Given the description of an element on the screen output the (x, y) to click on. 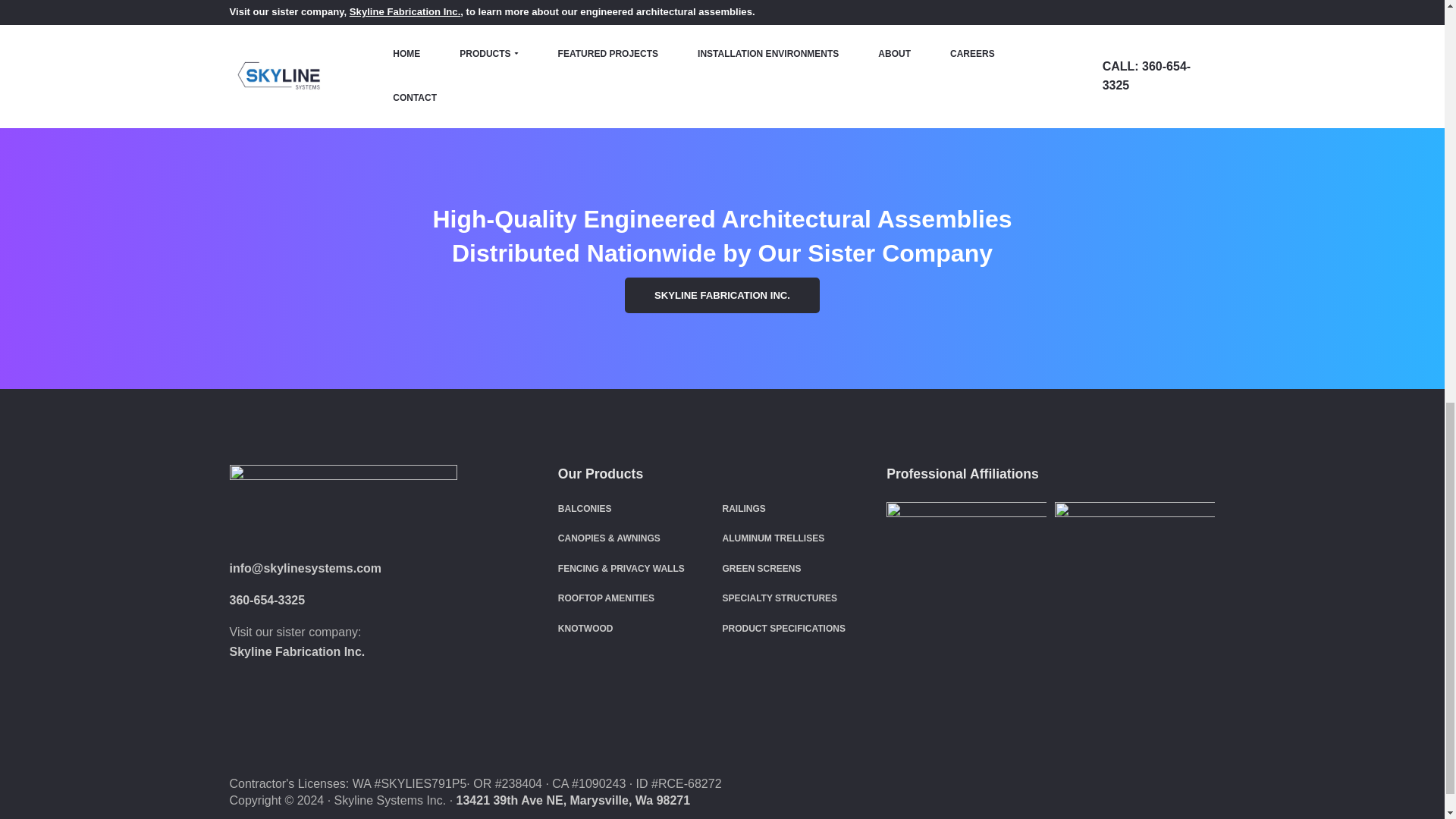
Installation Environments (510, 57)
ALUMINUM TRELLISES (773, 538)
ROOFTOP AMENITIES (605, 597)
BALCONIES (584, 508)
RAILINGS (743, 508)
360-654-3325 (266, 599)
SPECIALTY STRUCTURES (779, 597)
Skyline Fabrication Inc. (296, 651)
SKYLINE FABRICATION INC. (722, 294)
KNOTWOOD (584, 628)
